Given the description of an element on the screen output the (x, y) to click on. 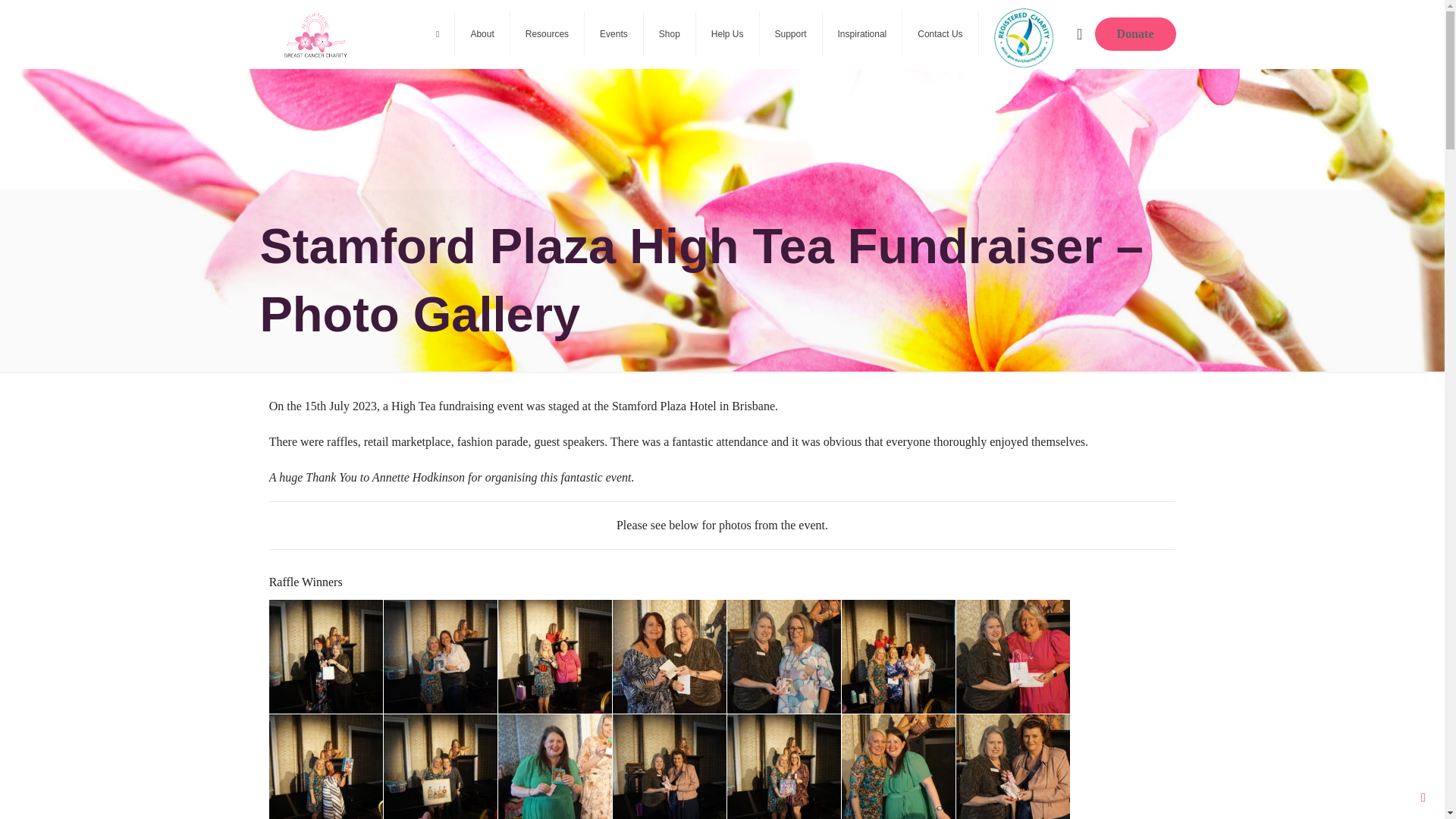
1908FA00-D8E8-4349-9E27-DDCEF2A6CCA4 (1013, 656)
3689BEBC-FAF6-4B48-B7A1-9A9CA154D372 (554, 656)
3368D603-9982-4355-B8AB-4D1497D7105D (440, 766)
200549CB-5DCE-4F8E-9D94-8561613ABFA2 (669, 656)
Resources (548, 33)
74B8DC33-6692-417D-B0C0-3DAEF59B47C6 (440, 656)
Support (791, 33)
6258D7BB-E391-49EB-ACBA-A7A68A703E98 (554, 766)
2439BB0D-CCEC-4A6B-BCC4-0F96347EC3D5 (783, 656)
Be Uplifted Inc Brisbane Breast Cancer Charity (314, 33)
